Given the description of an element on the screen output the (x, y) to click on. 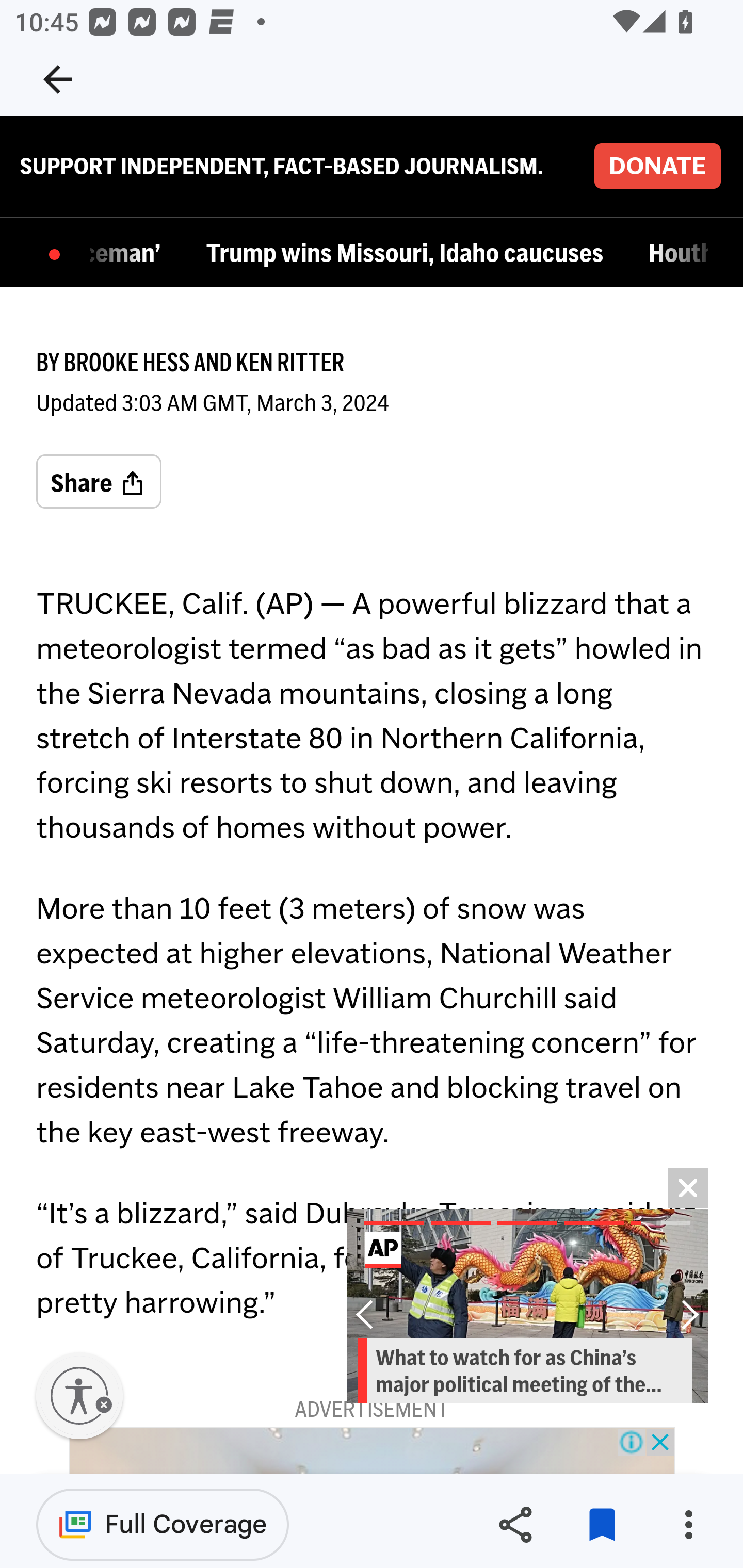
Navigate up (57, 79)
DONATE (657, 165)
Trump wins Missouri, Idaho caucuses (409, 254)
Share (99, 482)
Enable accessibility (79, 1395)
Share (514, 1524)
Remove from saved stories (601, 1524)
More options (688, 1524)
Full Coverage (162, 1524)
